Given the description of an element on the screen output the (x, y) to click on. 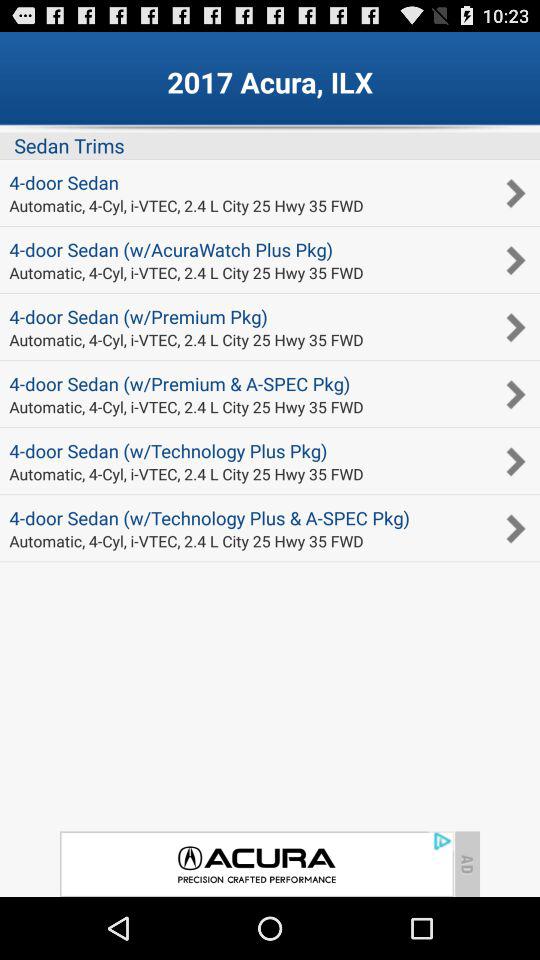
tap advertisement (256, 864)
